Given the description of an element on the screen output the (x, y) to click on. 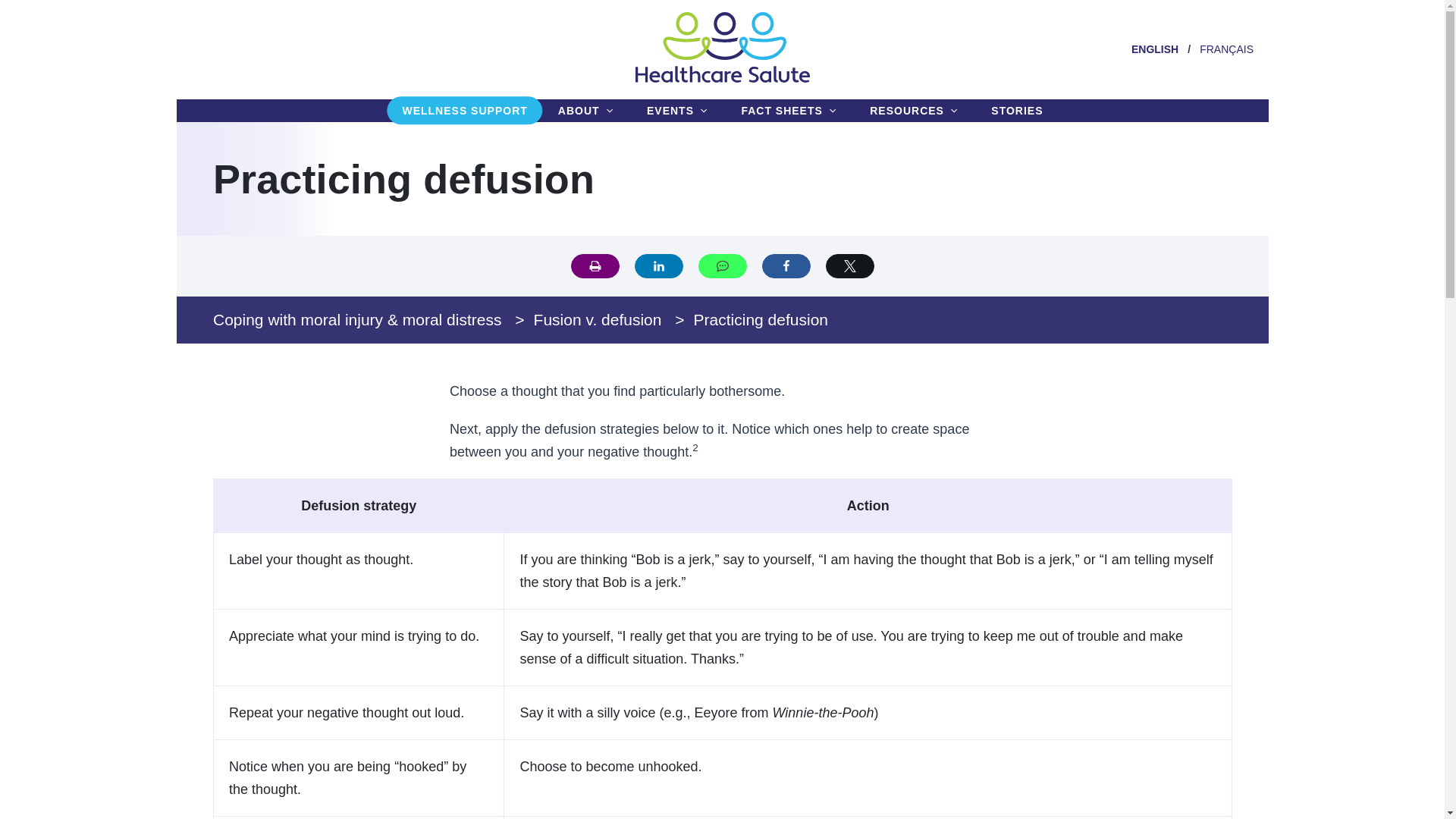
Share on Facebook (785, 265)
FACT SHEETS (789, 110)
Healthcare Salute (721, 78)
ABOUT (585, 110)
EVENTS (677, 110)
Share on X (849, 265)
Print this Page (594, 265)
Healthcare Salute (721, 47)
RESOURCES (914, 110)
ENGLISH (1146, 48)
